Given the description of an element on the screen output the (x, y) to click on. 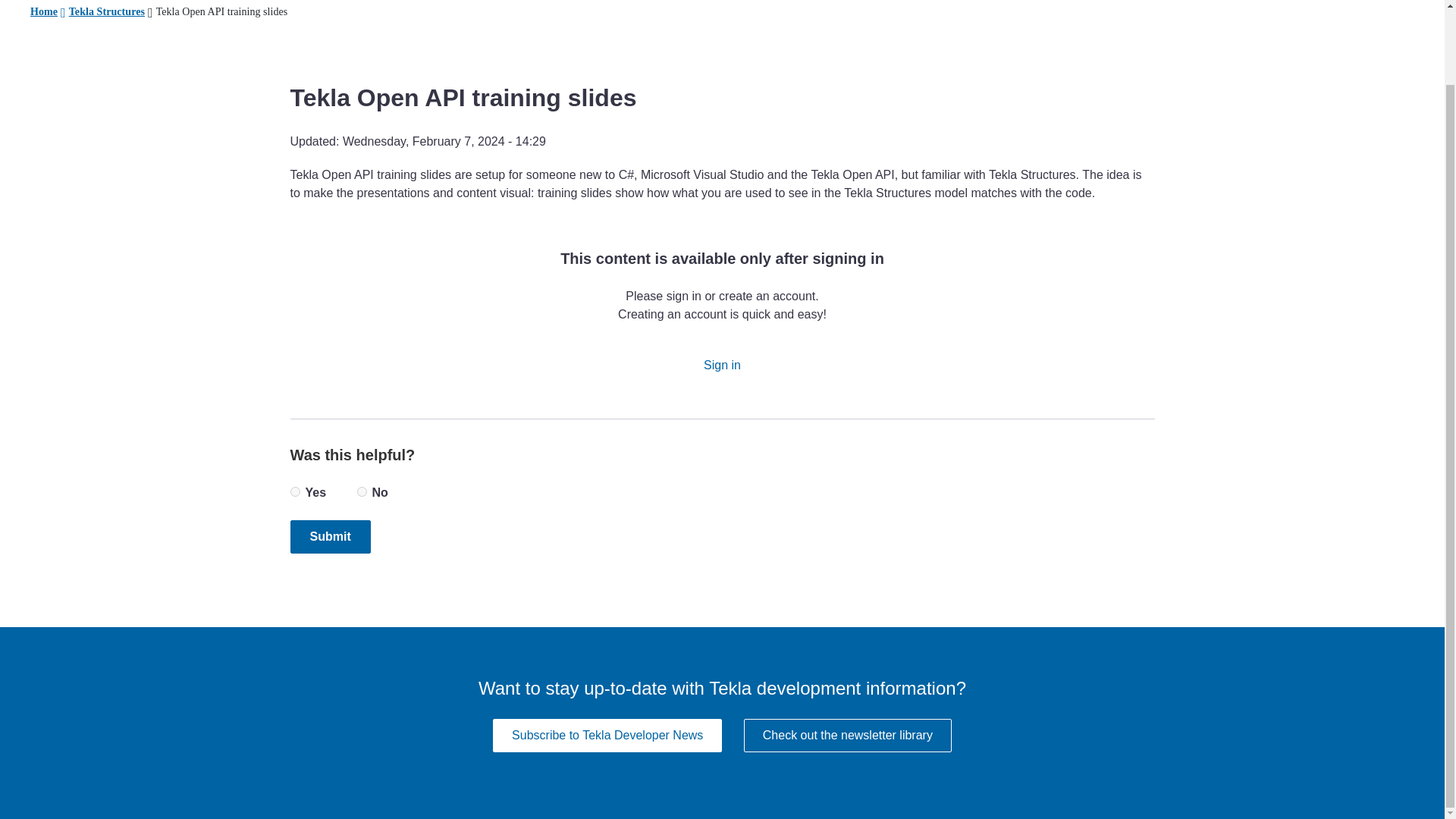
yes (294, 491)
no (361, 491)
Home (44, 11)
